Given the description of an element on the screen output the (x, y) to click on. 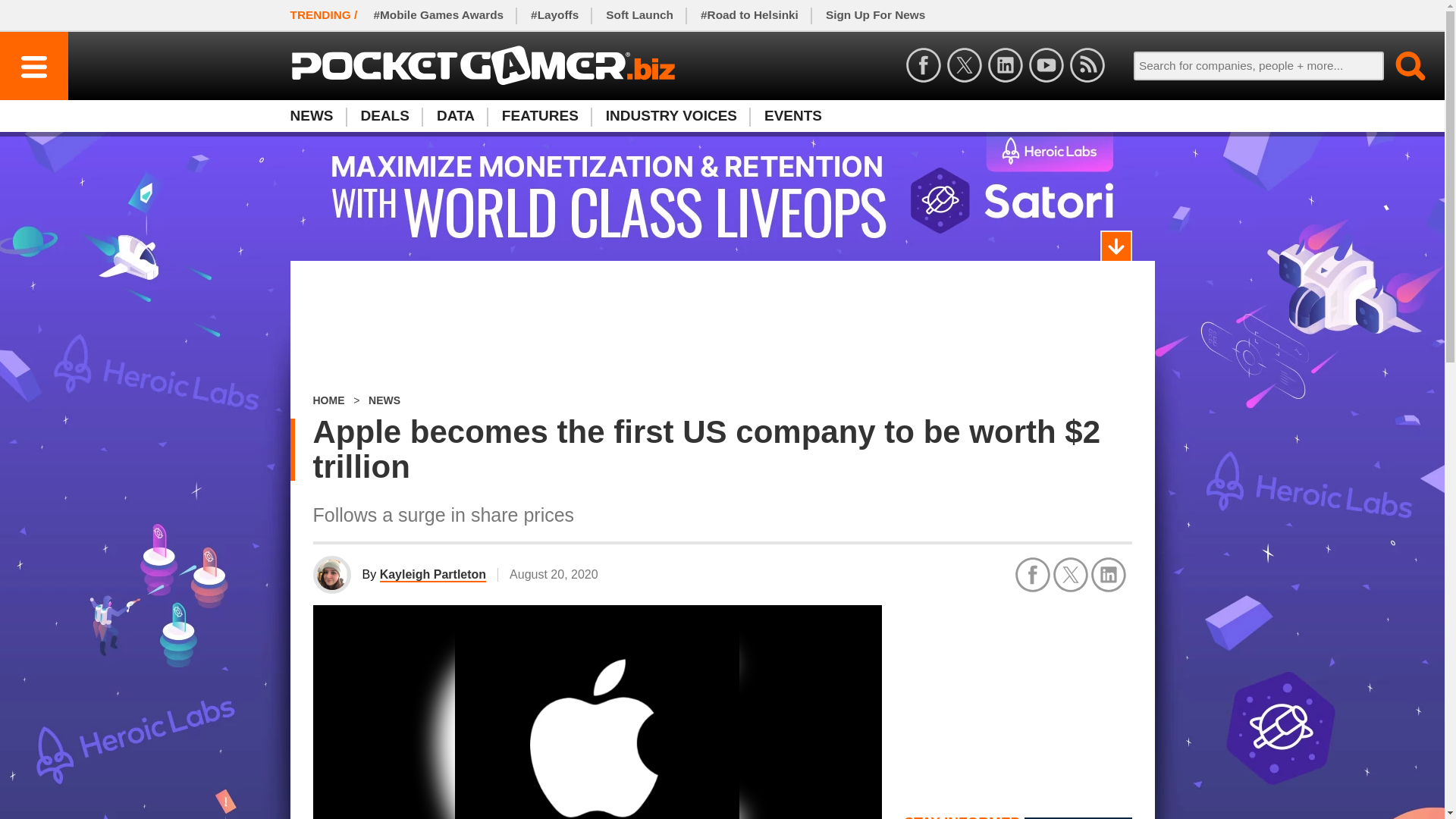
INDUSTRY VOICES (671, 115)
3rd party ad content (1017, 699)
FEATURES (721, 115)
3rd party ad content (539, 115)
NEWS (722, 328)
NEWS (384, 400)
HOME (317, 115)
Sign Up For News (328, 400)
Go (875, 15)
